Given the description of an element on the screen output the (x, y) to click on. 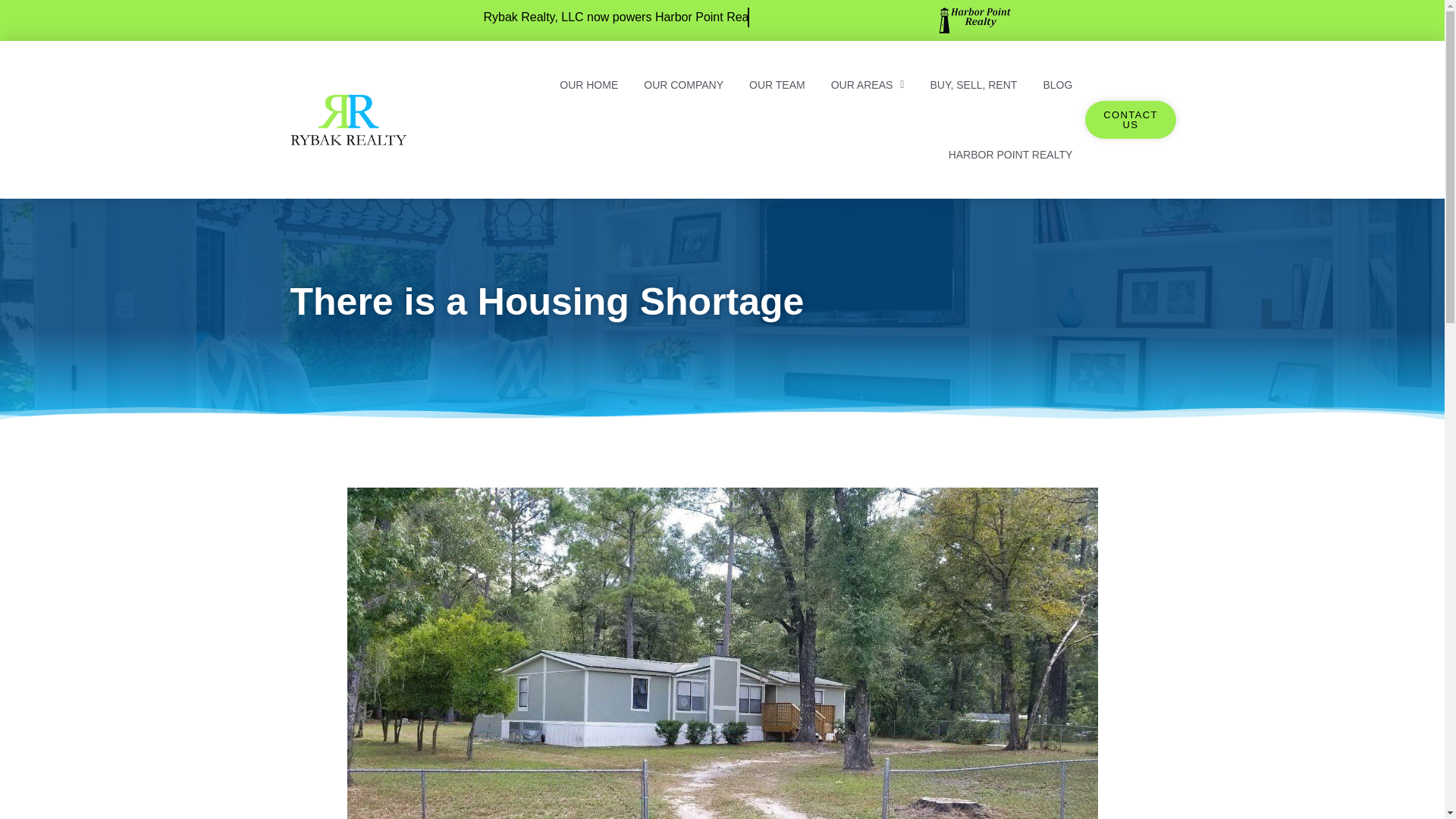
OUR COMPANY (683, 84)
OUR TEAM (777, 84)
BUY, SELL, RENT (973, 84)
HARBOR POINT REALTY (1011, 154)
OUR HOME (588, 84)
OUR AREAS (867, 84)
